Given the description of an element on the screen output the (x, y) to click on. 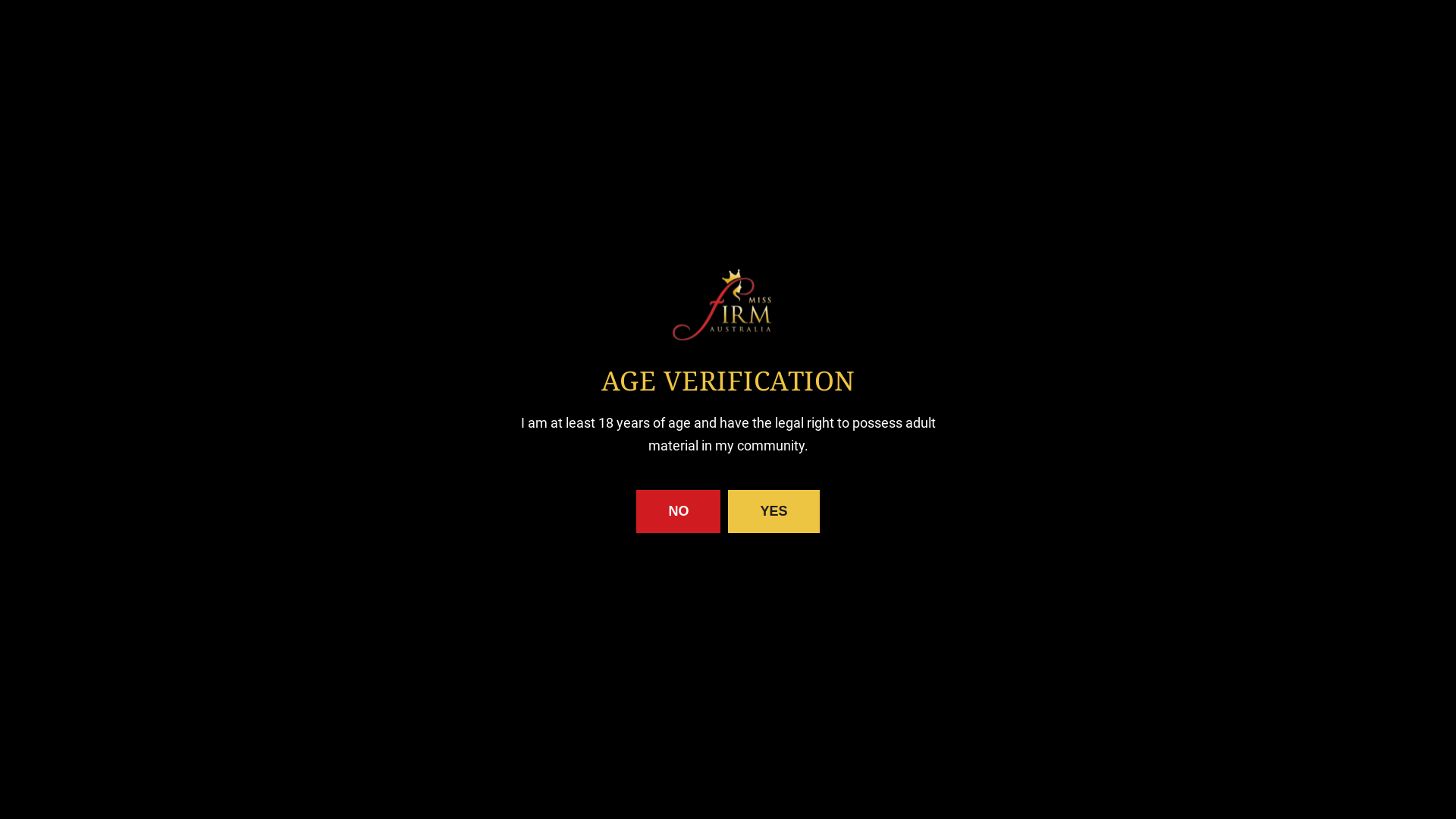
NO Element type: text (678, 511)
YES Element type: text (773, 511)
